Given the description of an element on the screen output the (x, y) to click on. 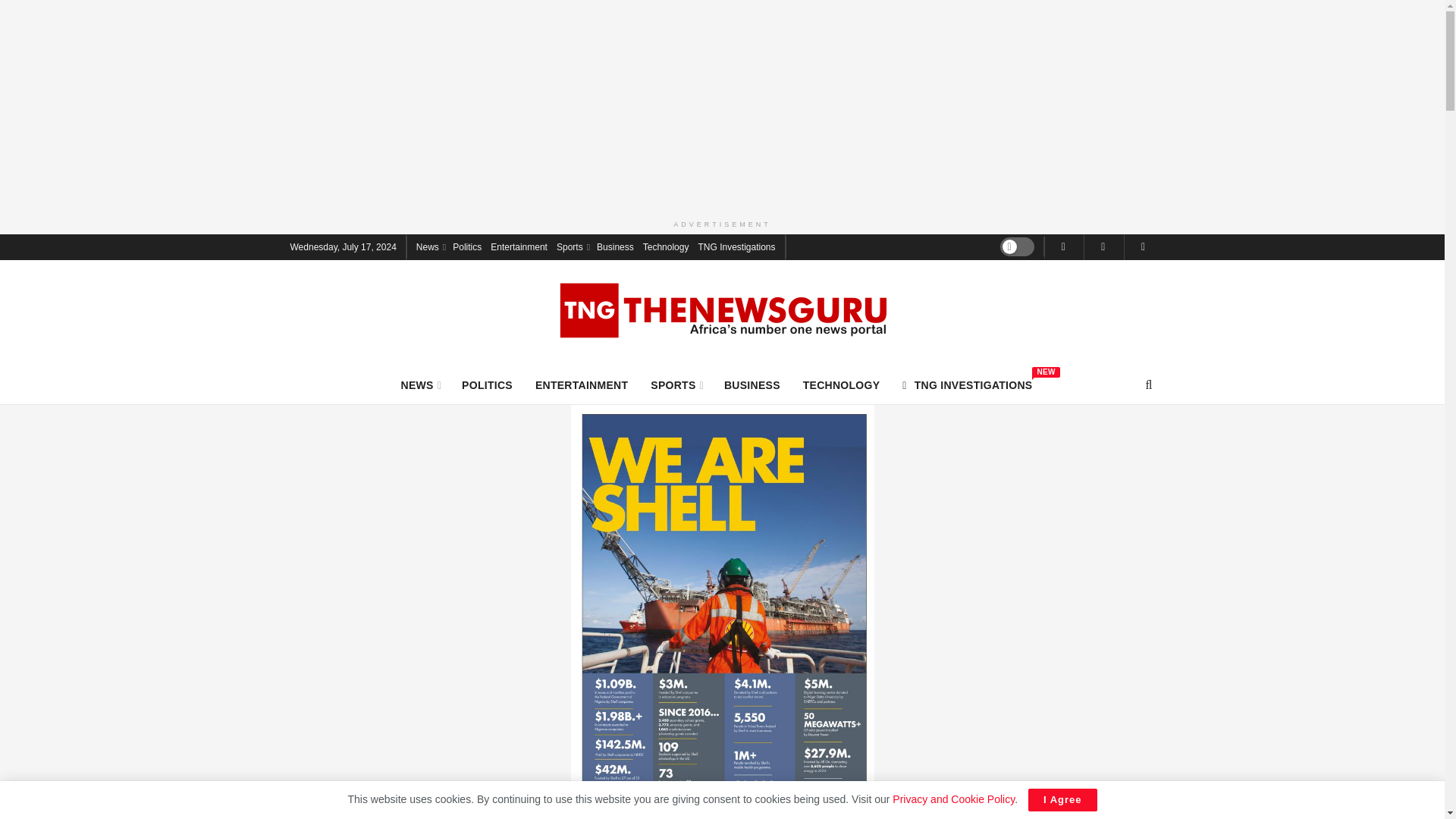
TECHNOLOGY (841, 384)
Business (614, 246)
BUSINESS (751, 384)
TNG Investigations (735, 246)
Politics (466, 246)
Sports (572, 246)
POLITICS (486, 384)
SPORTS (967, 384)
NEWS (675, 384)
News (420, 384)
Technology (430, 246)
Entertainment (665, 246)
ENTERTAINMENT (518, 246)
Advertisement (581, 384)
